Given the description of an element on the screen output the (x, y) to click on. 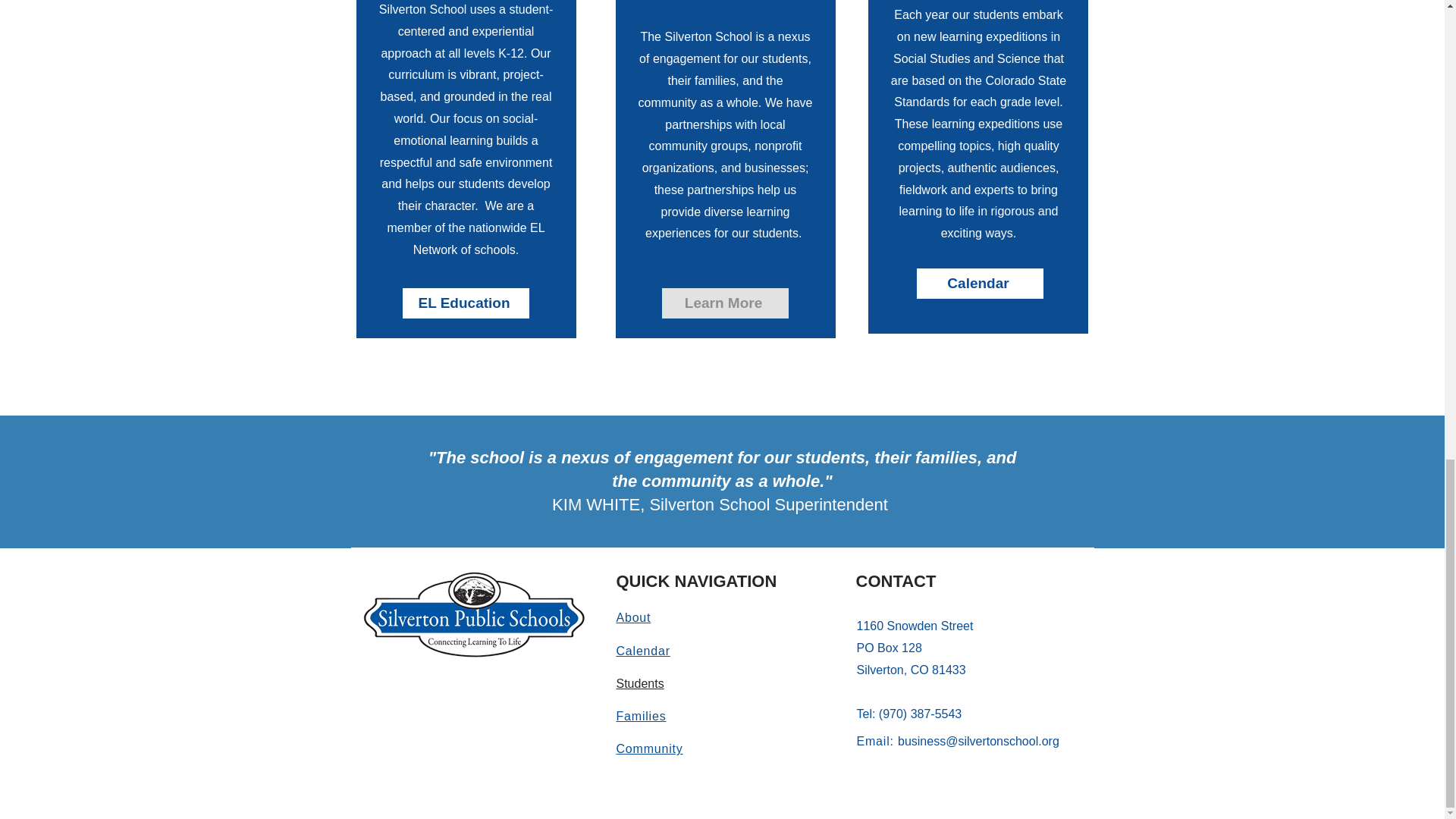
About (632, 617)
EL Education (464, 302)
Community (648, 748)
Families (640, 716)
Calendar (642, 650)
Students (639, 683)
Calendar (978, 283)
Learn More (724, 303)
